Given the description of an element on the screen output the (x, y) to click on. 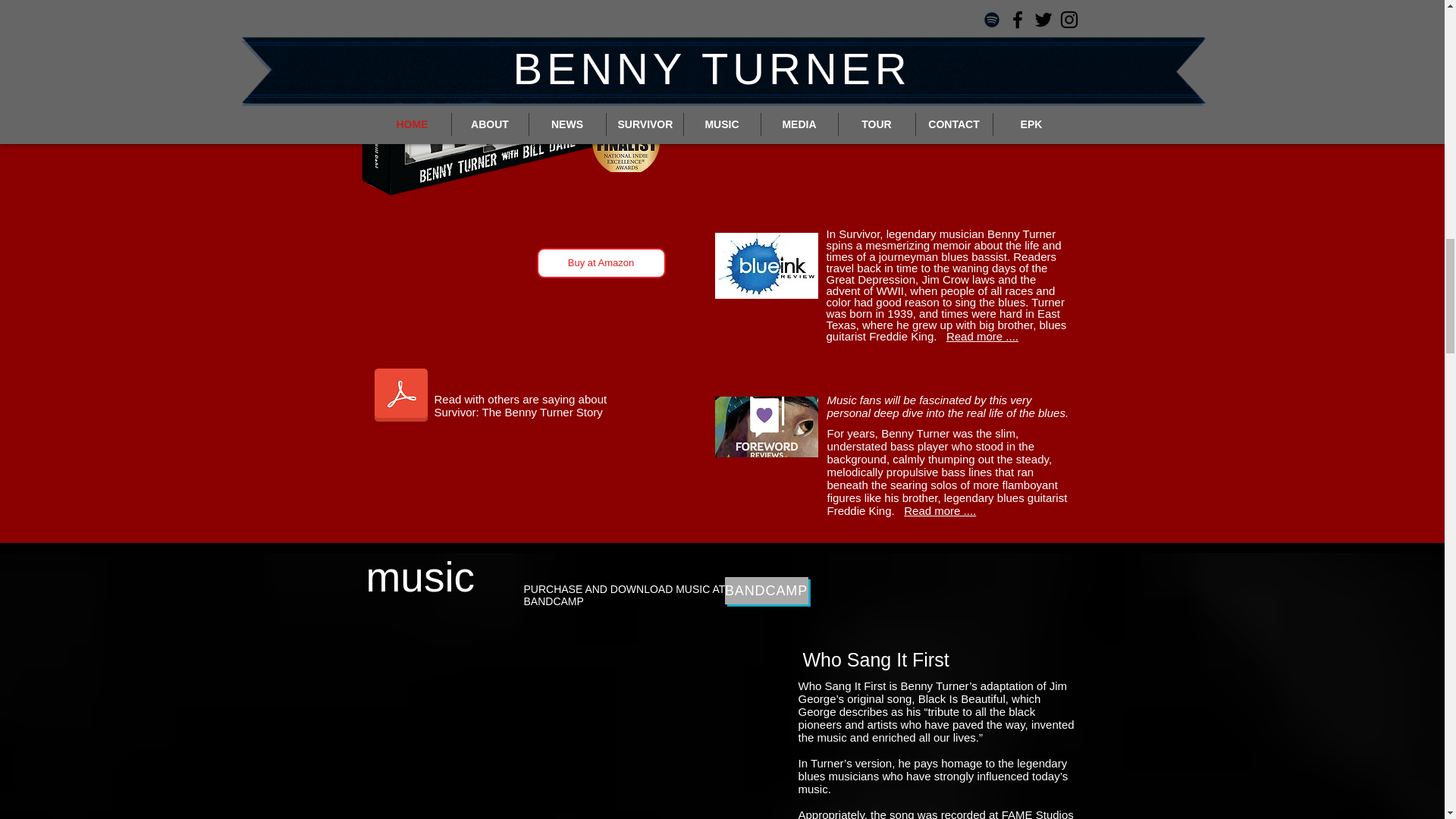
BANDCAMP (766, 590)
Read more .... (939, 510)
Buy at Amazon (601, 263)
Read more .... (981, 336)
